Given the description of an element on the screen output the (x, y) to click on. 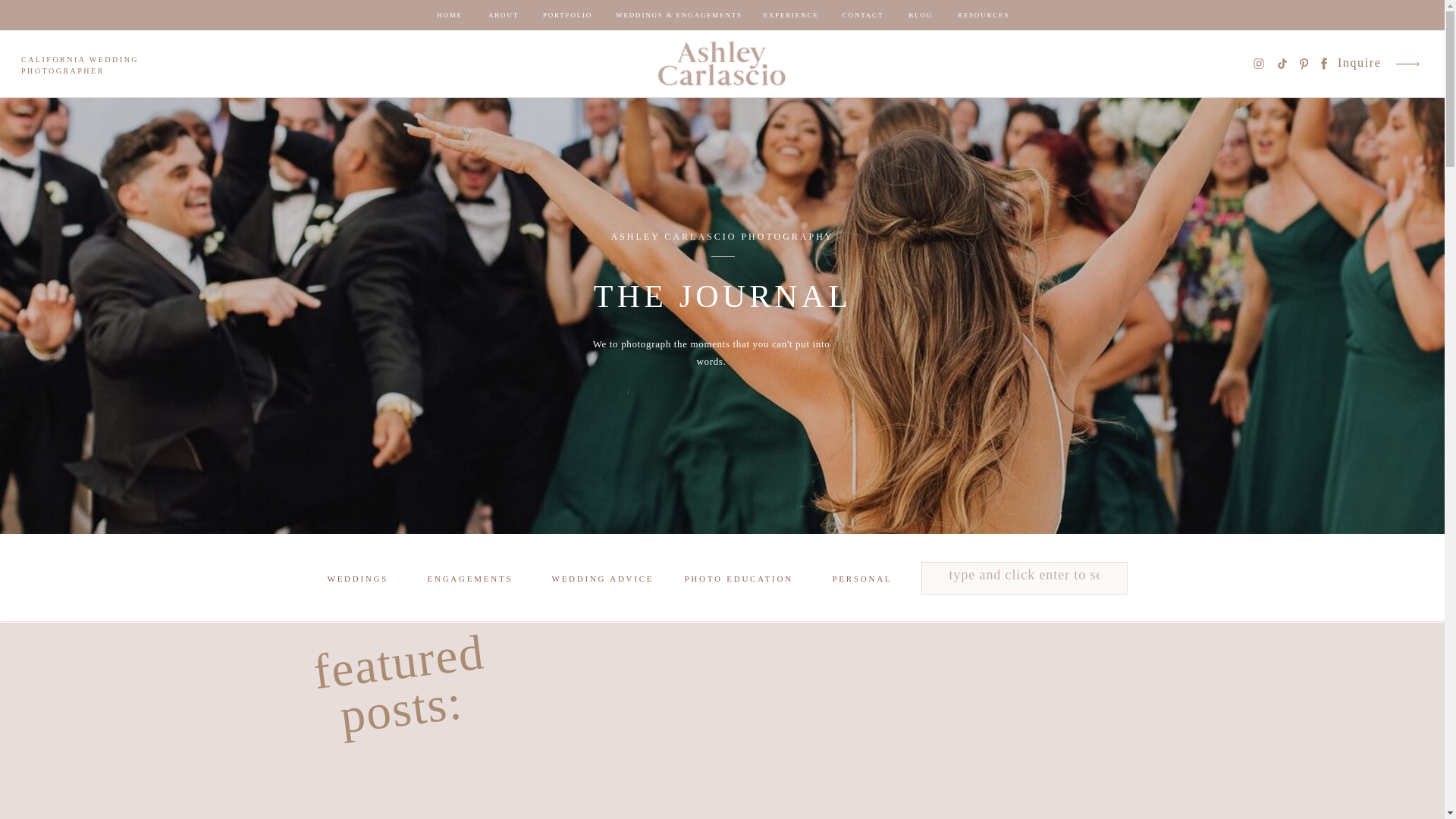
HOME (448, 15)
Inquire  (1360, 64)
WEDDING ADVICE (605, 580)
BLOG (920, 15)
PERSONAL (868, 580)
CALIFORNIA WEDDING PHOTOGRAPHER (91, 67)
WEDDINGS (357, 580)
EXPERIENCE (790, 15)
ABOUT (503, 15)
RESOURCES (982, 15)
